Given the description of an element on the screen output the (x, y) to click on. 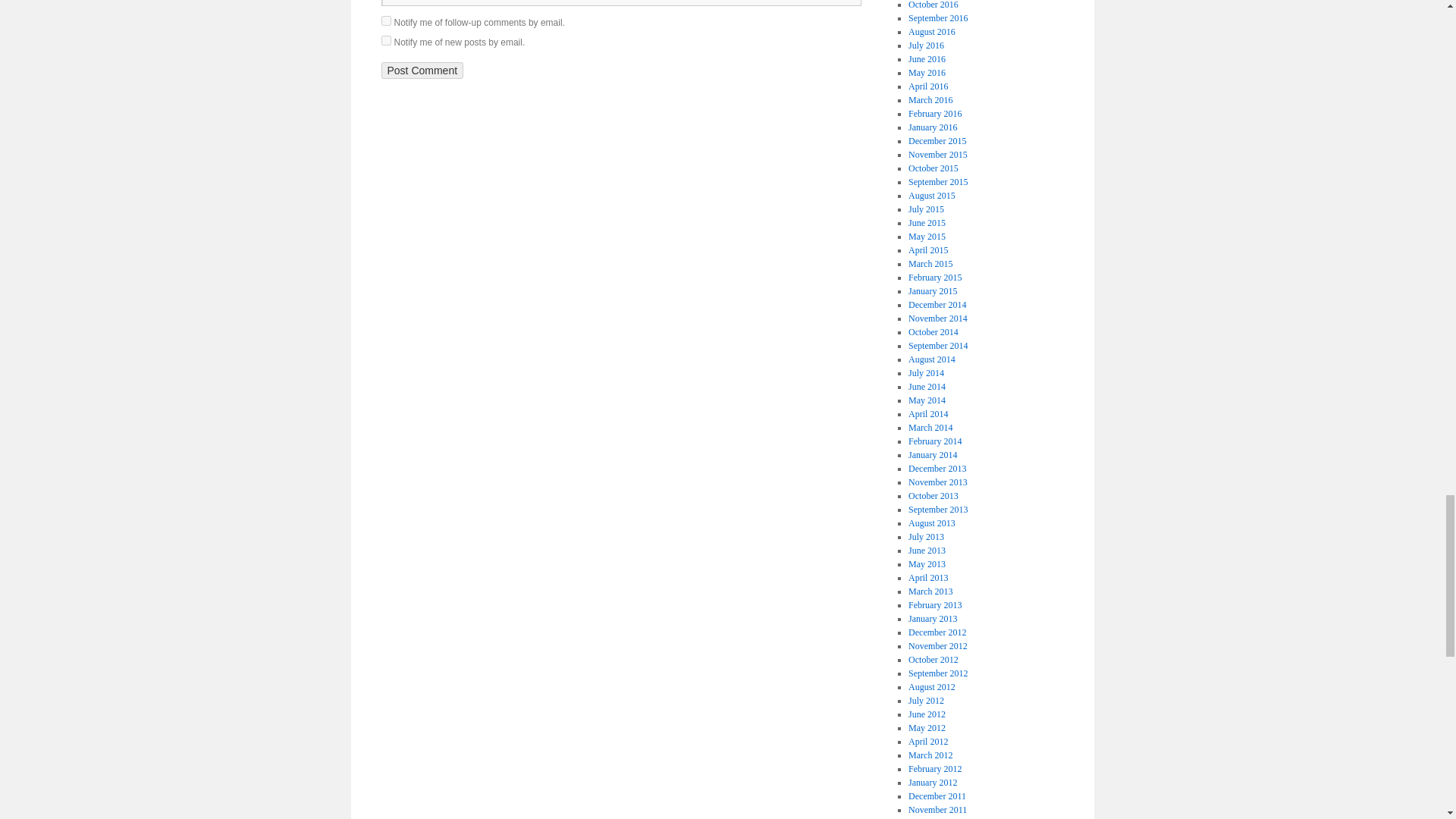
Post Comment (421, 70)
subscribe (385, 40)
subscribe (385, 20)
Post Comment (421, 70)
